Given the description of an element on the screen output the (x, y) to click on. 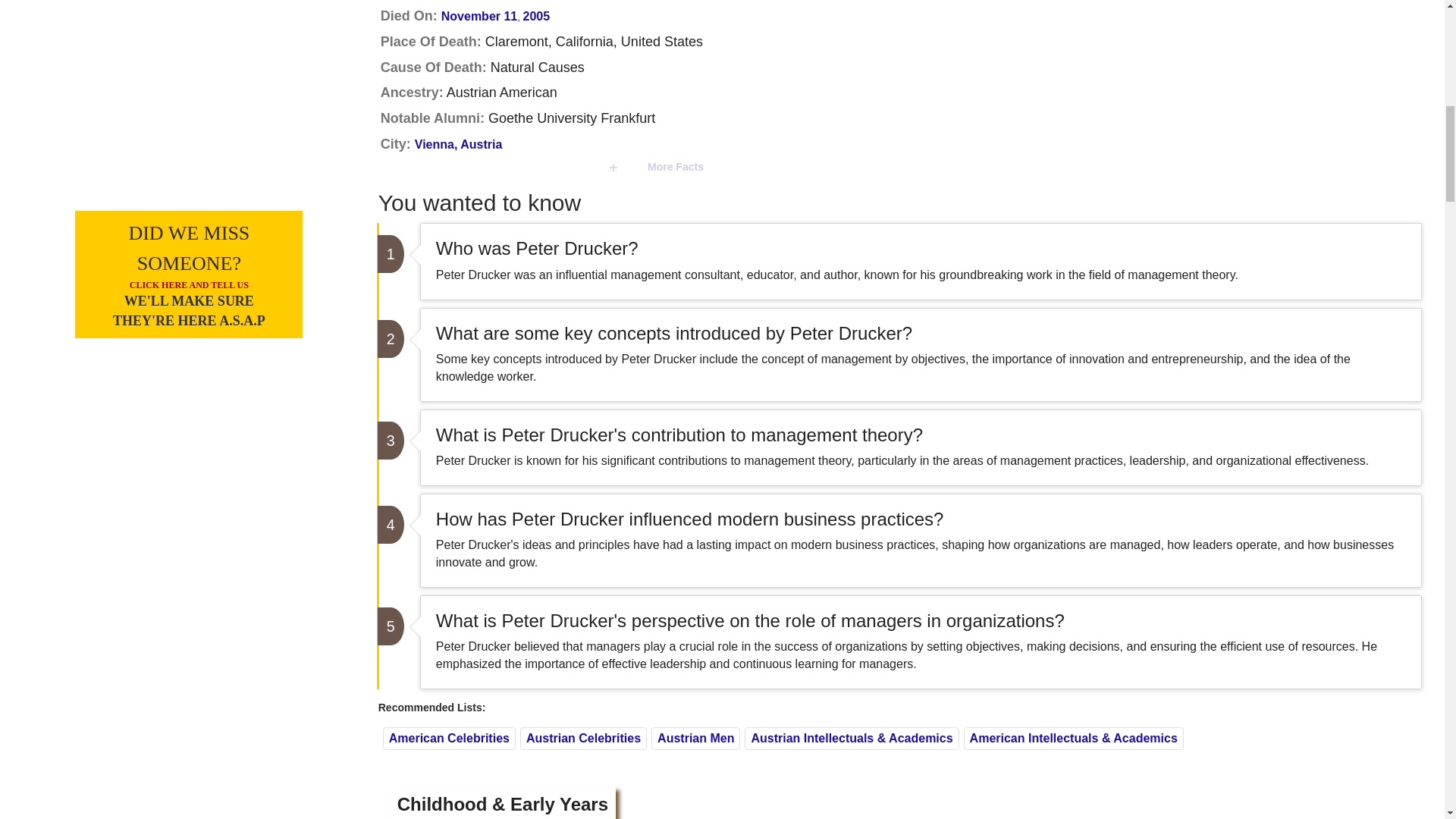
Advertisement (188, 101)
